Given the description of an element on the screen output the (x, y) to click on. 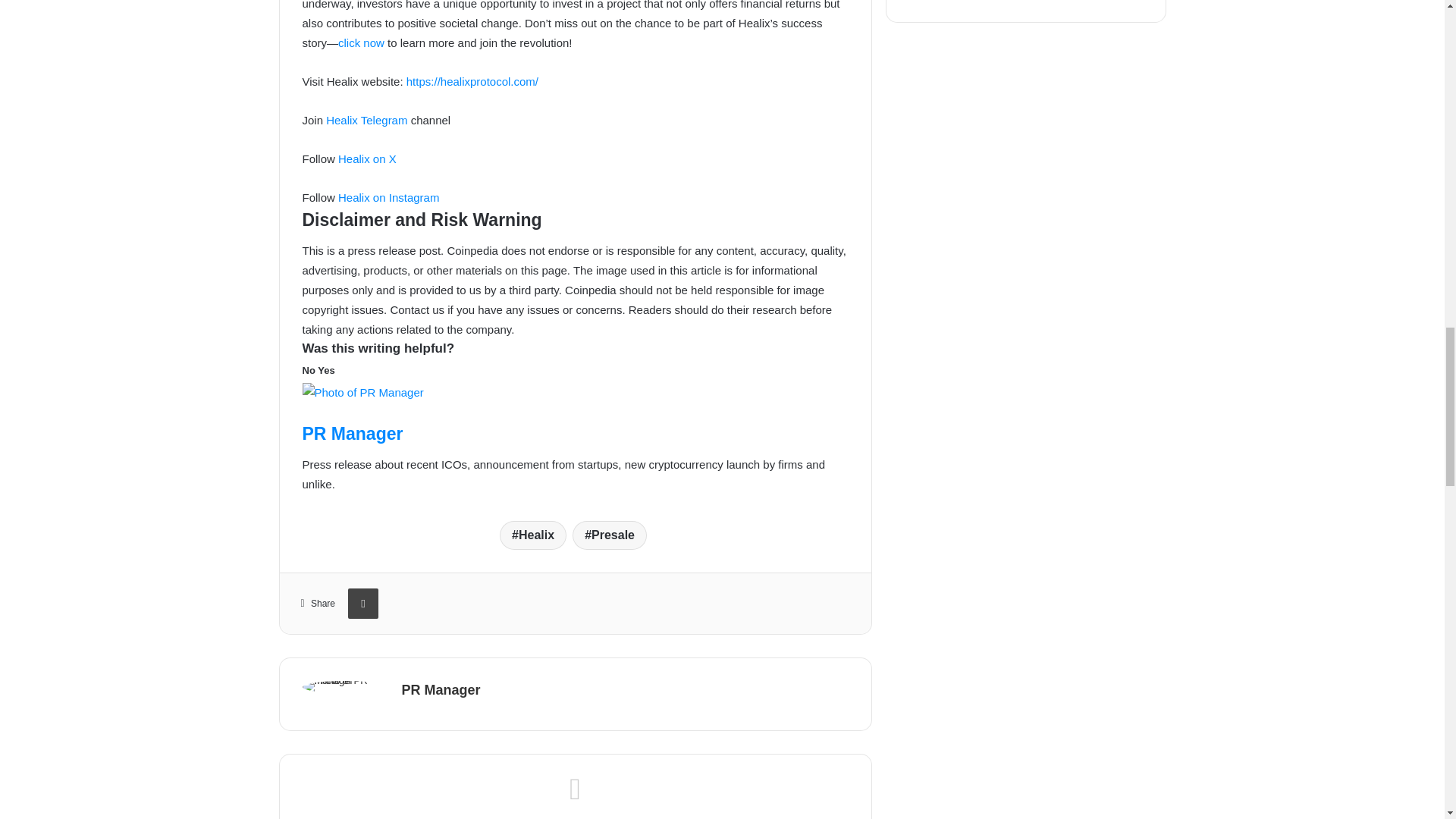
Healix on Instagram (388, 196)
Healix Telegram (366, 119)
PR Manager (352, 433)
Healix on X (366, 158)
Print (362, 603)
click now (360, 42)
